Given the description of an element on the screen output the (x, y) to click on. 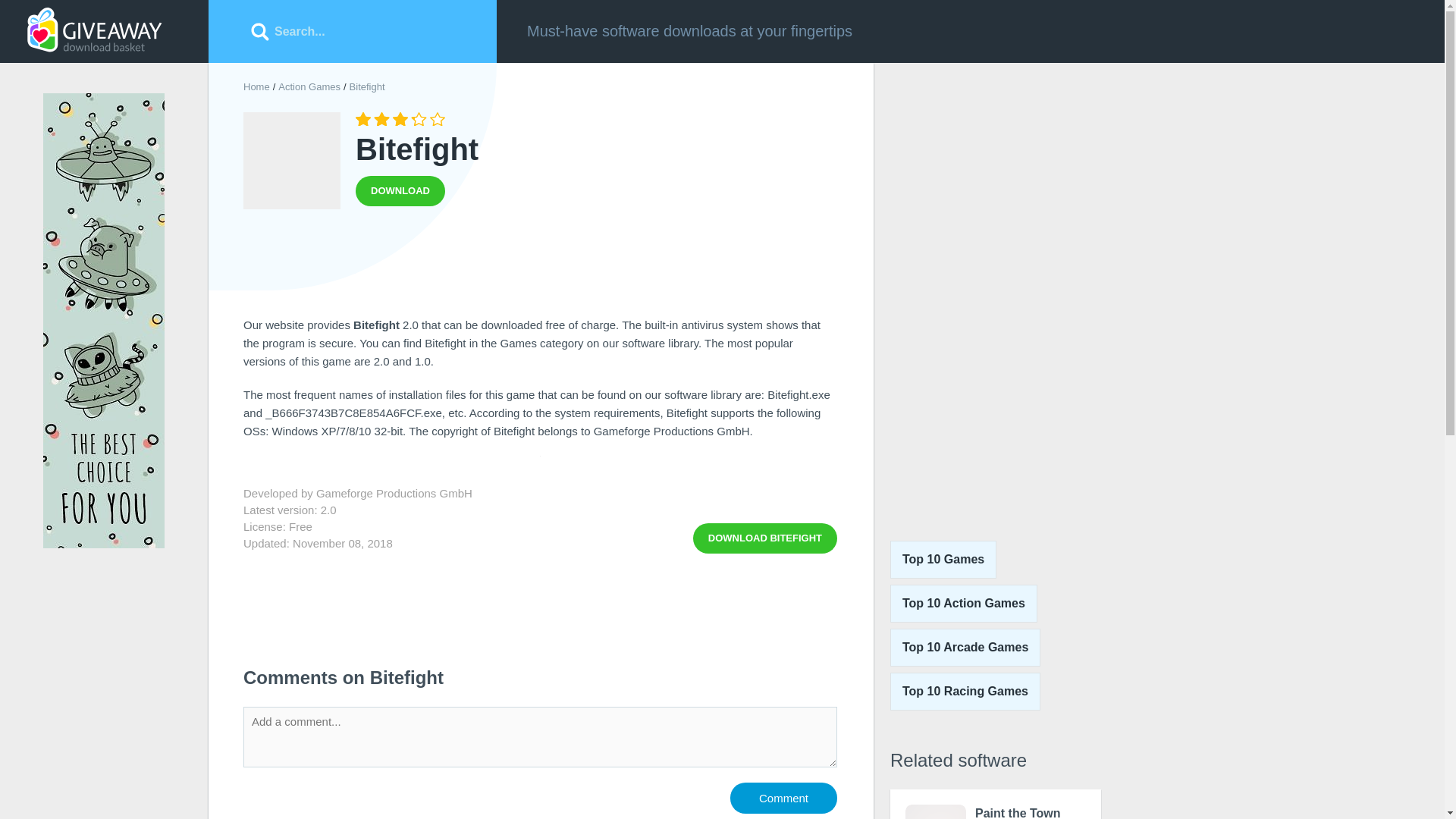
Top 10 Action Games (962, 603)
Top 10 Games (942, 559)
DOWNLOAD BITEFIGHT (765, 538)
Software and Games for Windows (256, 86)
Comment (783, 798)
Action Games for Windows (309, 86)
Top 10 Action Games for Windows (994, 804)
Top 10 Racing Games for Windows (962, 603)
Top 10 Arcade Games (965, 691)
Advertisement (965, 647)
Software and Games for Windows (540, 266)
Home (94, 30)
Download Bitefight 2.0 for free (256, 86)
Comment (765, 538)
